Given the description of an element on the screen output the (x, y) to click on. 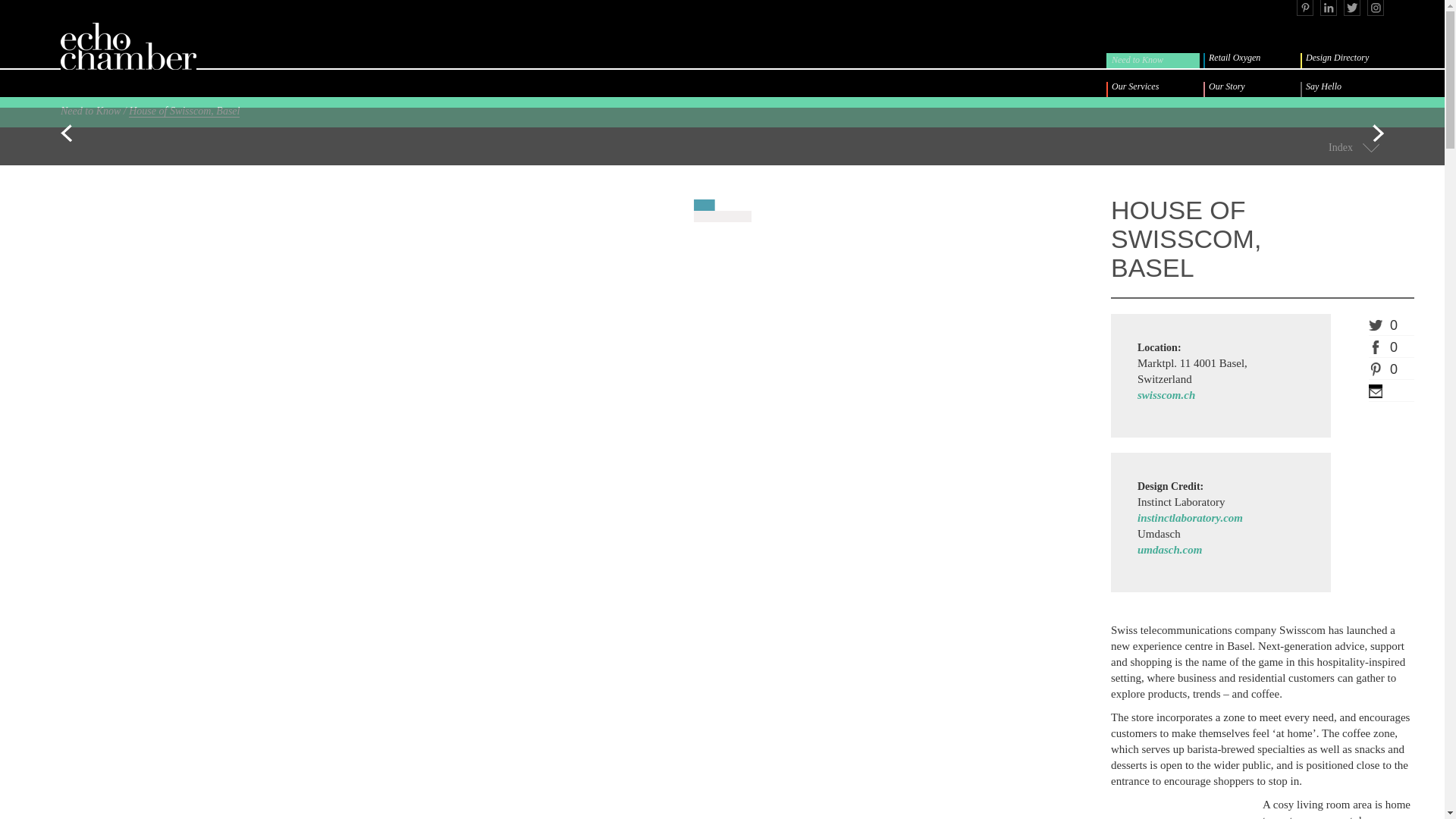
Say Hello (1348, 89)
Our Story (1252, 89)
Index (1339, 147)
Need to Know (90, 111)
Need to Know (1155, 60)
House of Swisscom, Basel (184, 111)
Our Services (1155, 89)
Retail Oxygen (1252, 60)
Design Directory (1348, 60)
